Given the description of an element on the screen output the (x, y) to click on. 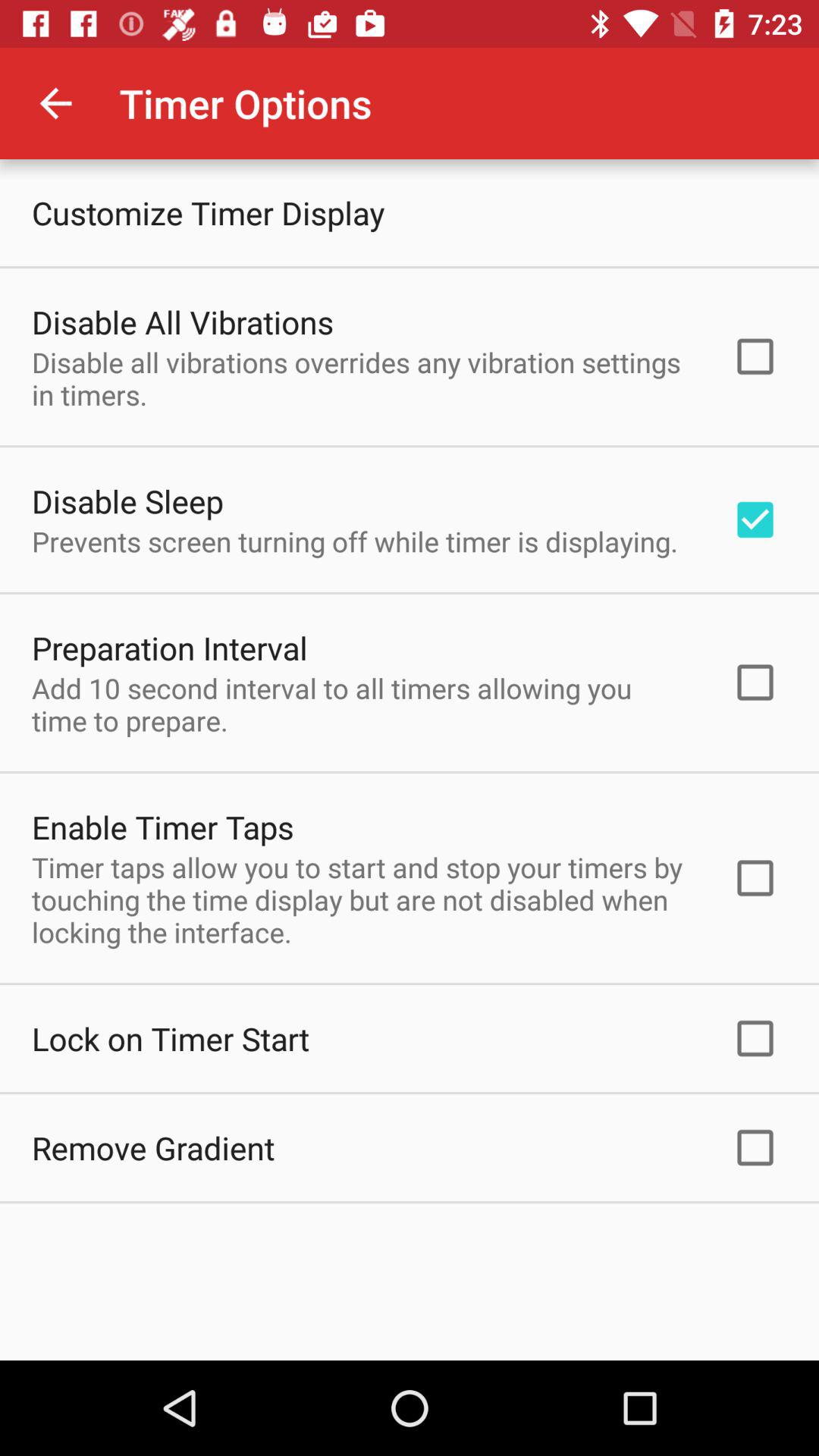
select the icon to the left of the timer options (55, 103)
